Given the description of an element on the screen output the (x, y) to click on. 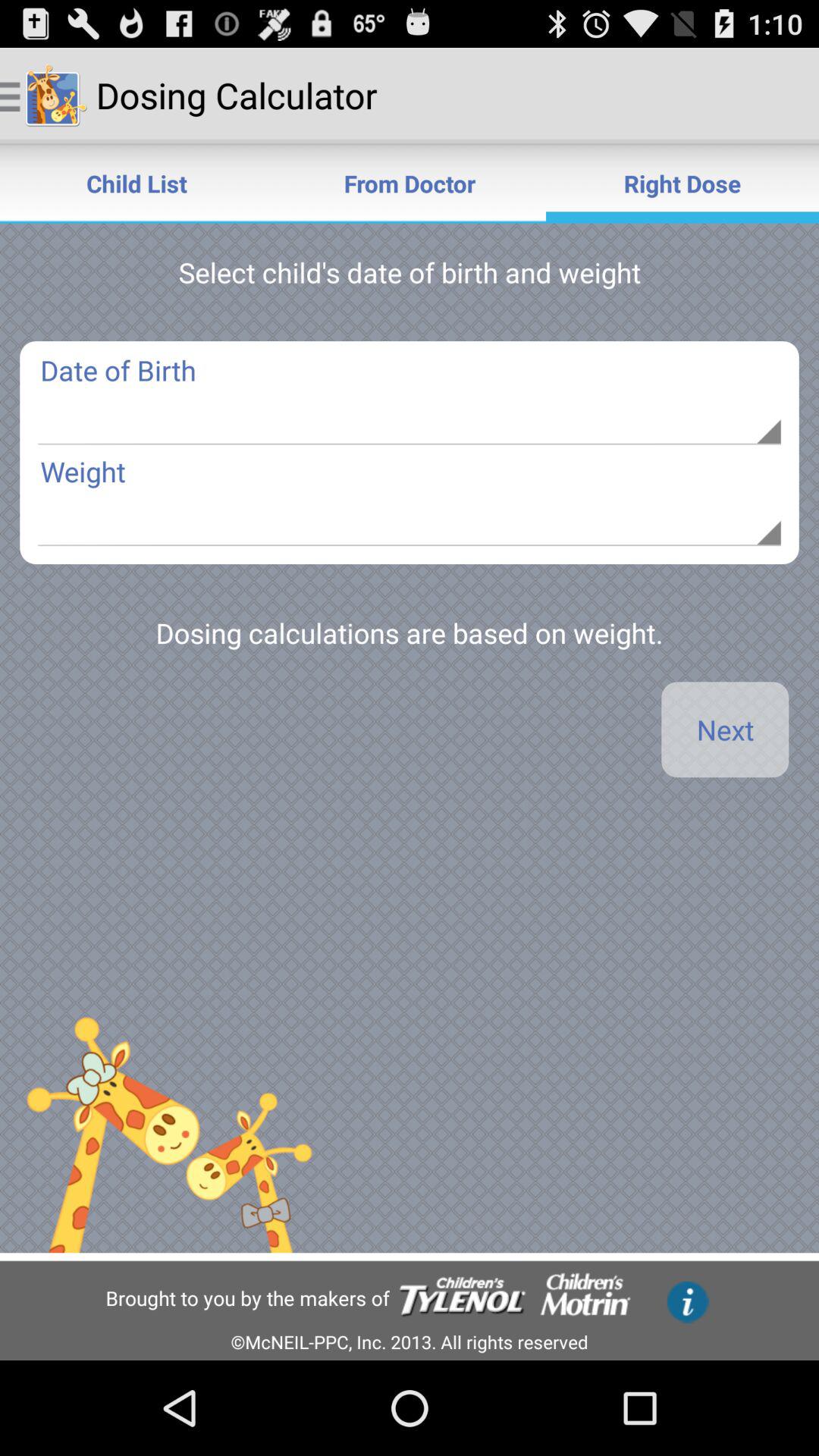
turn on the icon to the left of the right dose item (409, 183)
